Given the description of an element on the screen output the (x, y) to click on. 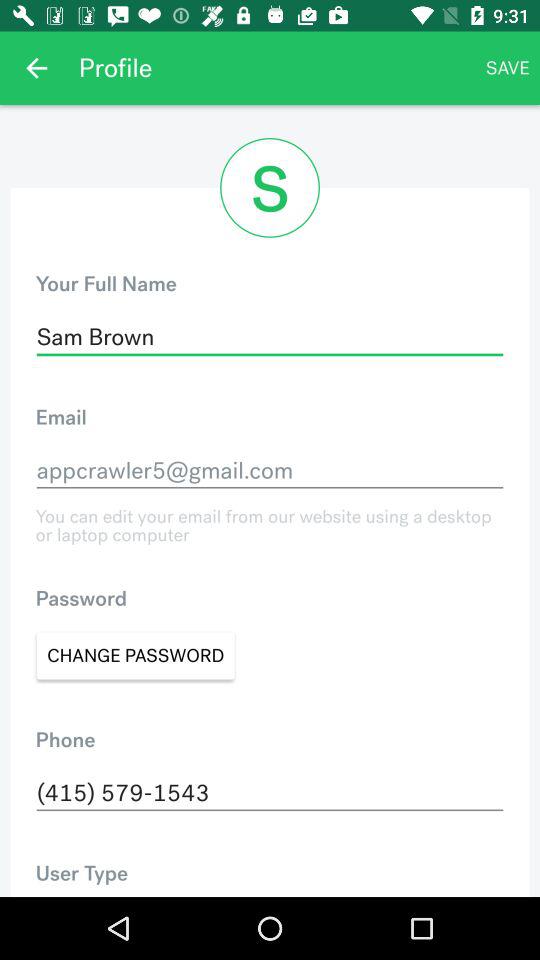
open the item above the your full name (36, 68)
